Given the description of an element on the screen output the (x, y) to click on. 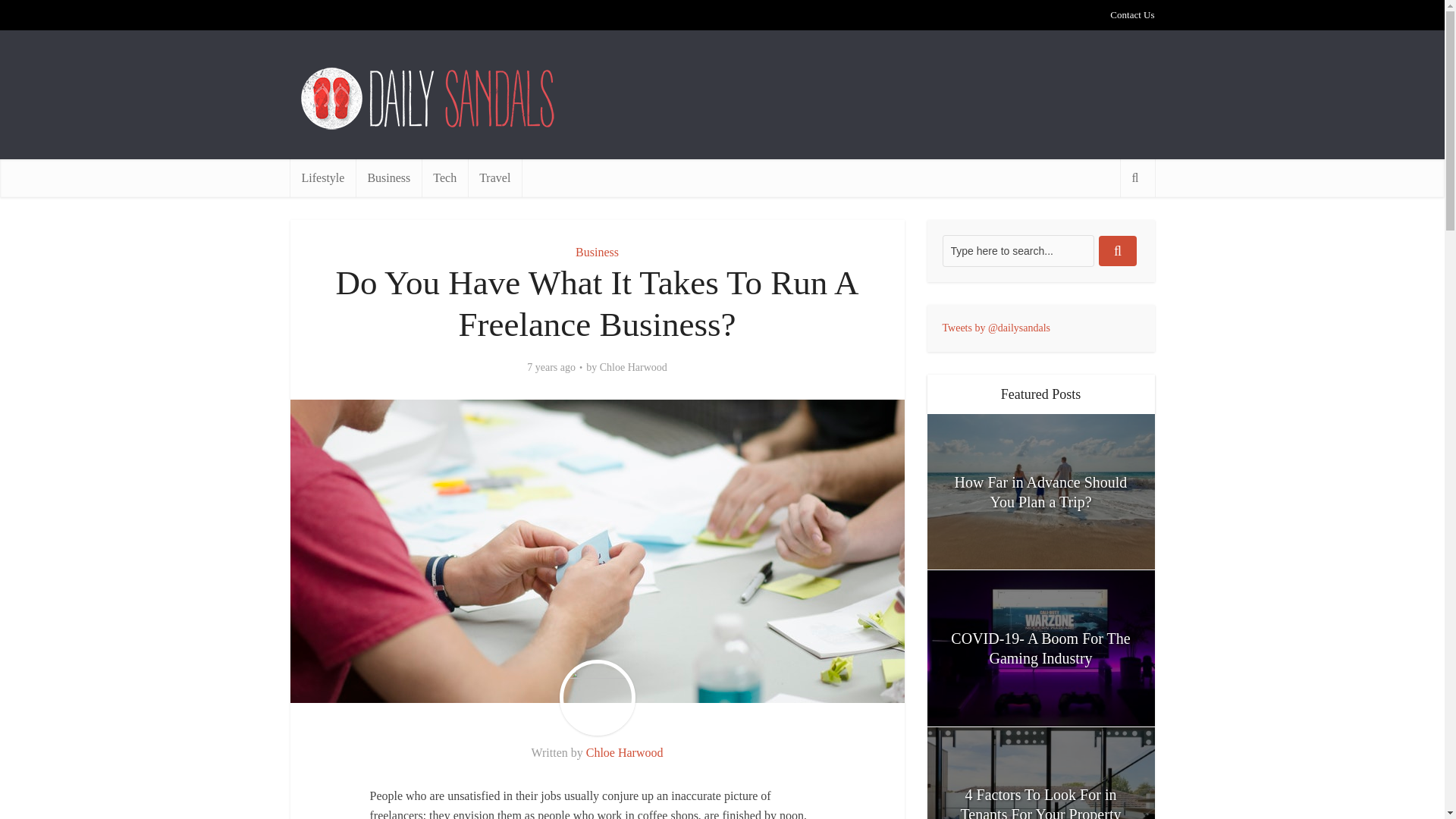
Contact Us (1131, 14)
Lifestyle (322, 177)
How Far in Advance Should You Plan a Trip? (1040, 492)
Business (596, 251)
Type here to search... (1017, 250)
Chloe Harwood (624, 752)
Travel (494, 177)
Chloe Harwood (632, 367)
Daily Sandals (429, 98)
How Far in Advance Should You Plan a Trip? (1040, 491)
